Given the description of an element on the screen output the (x, y) to click on. 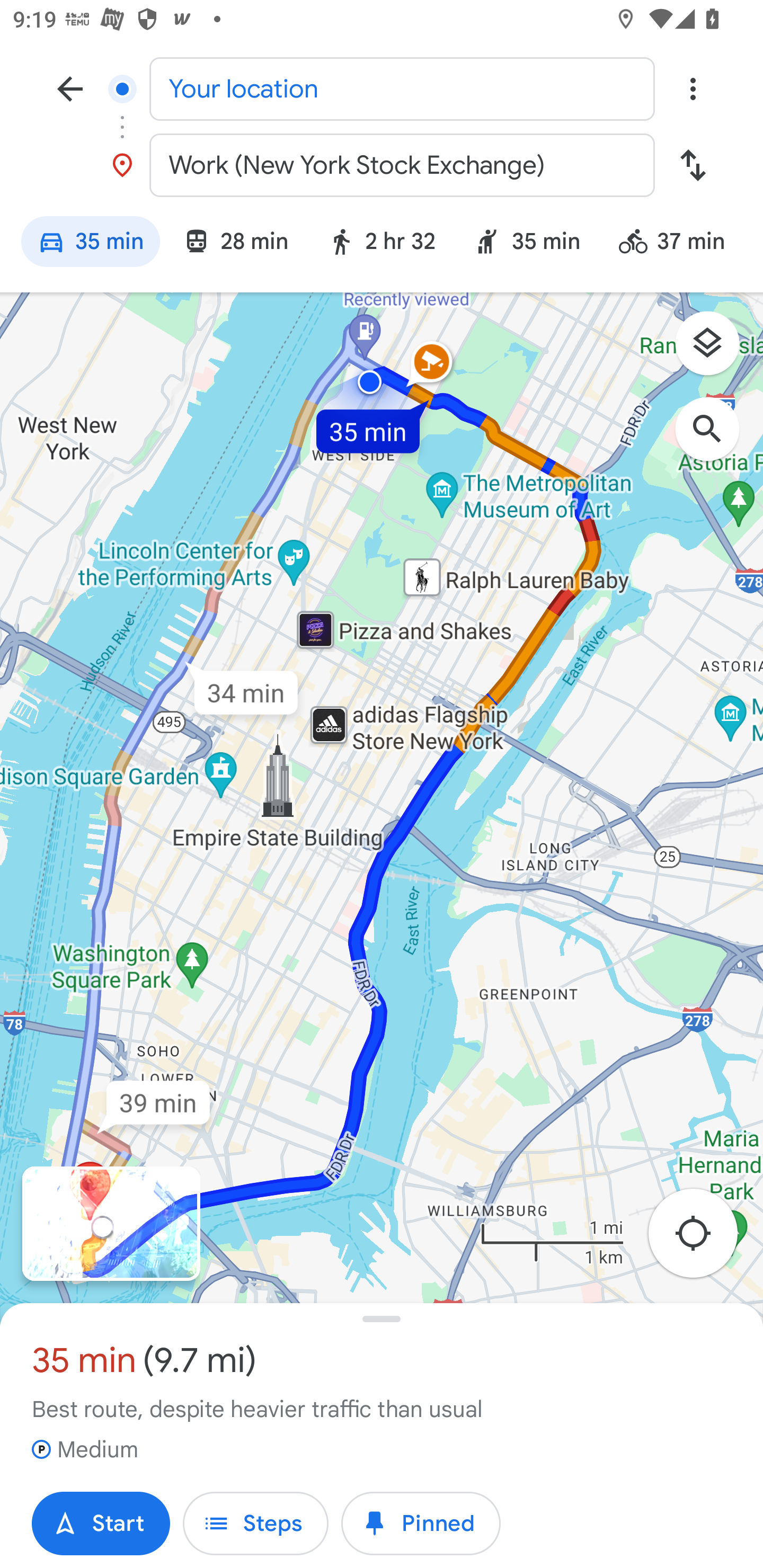
Navigate up (70, 88)
Your location Start location, Your location (381, 88)
Overflow menu (692, 88)
Swap start and destination (692, 165)
Transit mode: 28 min 28 min (235, 244)
Walking mode: 2 hr 32 2 hr 32 (380, 244)
Ride service: 35 min 35 min (526, 244)
Bicycling mode: 37 min 37 min (679, 244)
Layers (716, 349)
Search along route (716, 438)
Open Immersive View for routes (110, 1223)
Re-center map to your location (702, 1238)
Steps Steps Steps (255, 1522)
